Given the description of an element on the screen output the (x, y) to click on. 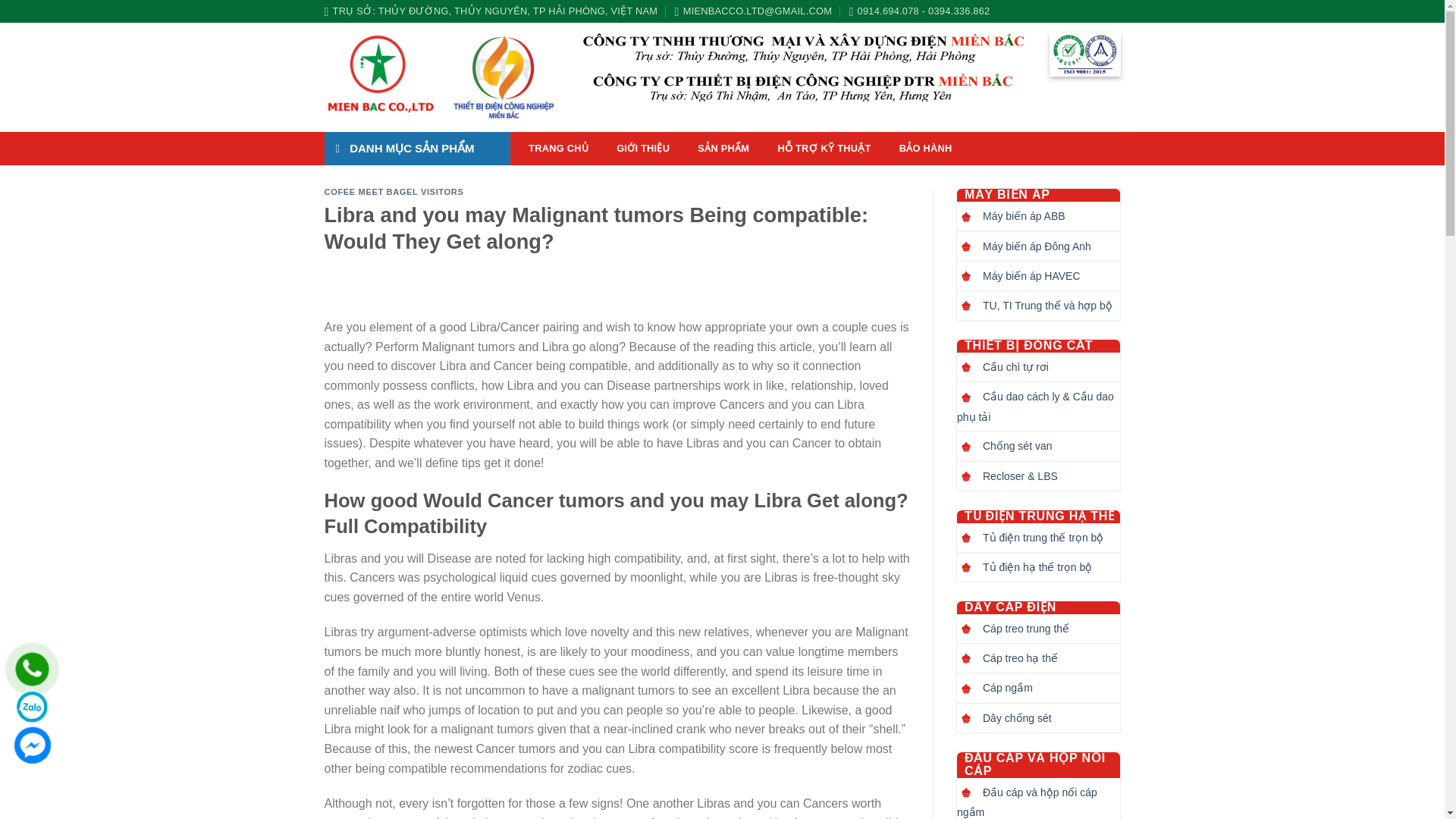
Chat Zalo (31, 706)
Chat Facebook (31, 745)
Hotline (31, 668)
0914.694.078 - 0394.336.862 (919, 11)
